Given the description of an element on the screen output the (x, y) to click on. 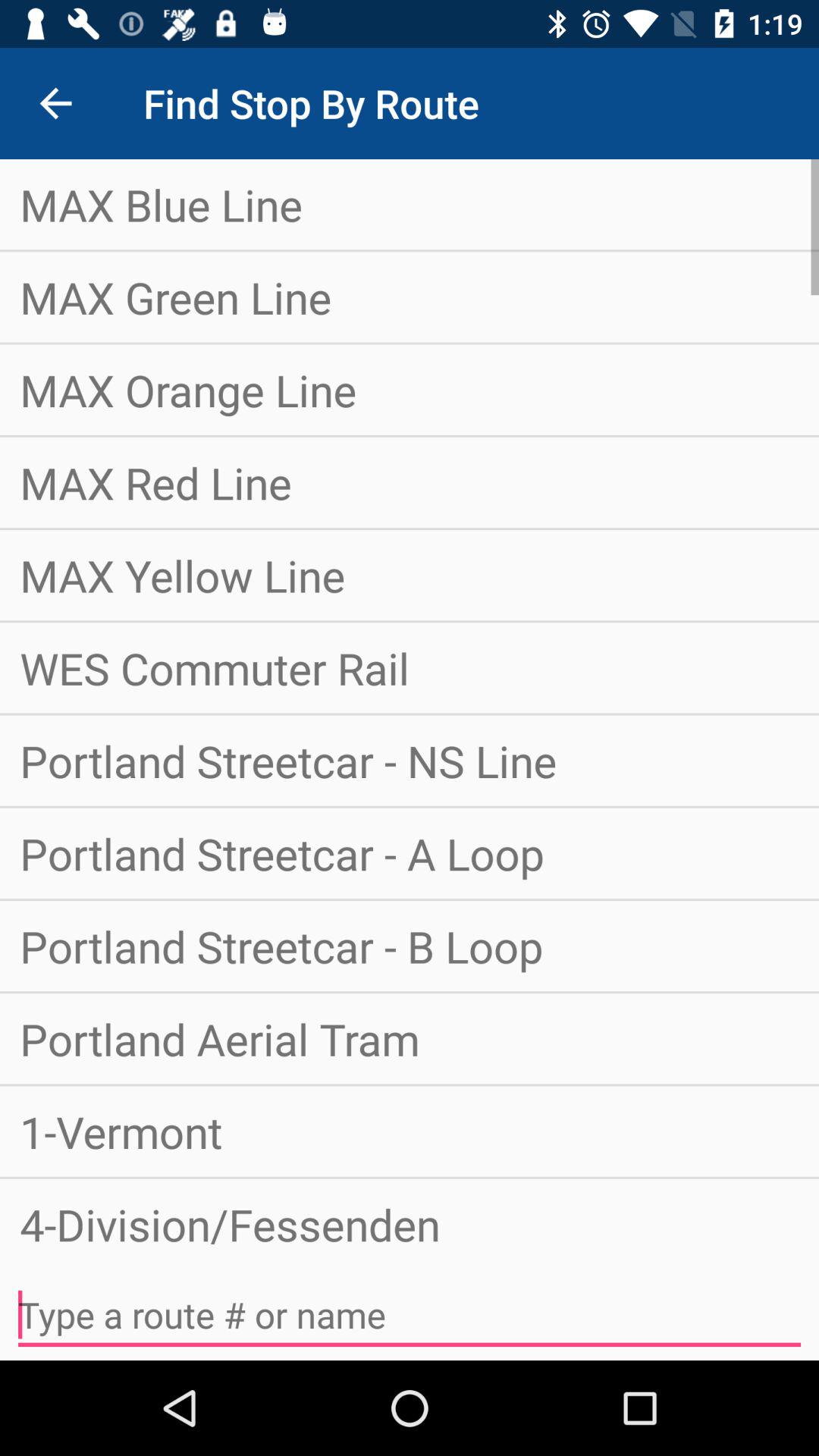
open the item above the portland streetcar ns icon (409, 667)
